Given the description of an element on the screen output the (x, y) to click on. 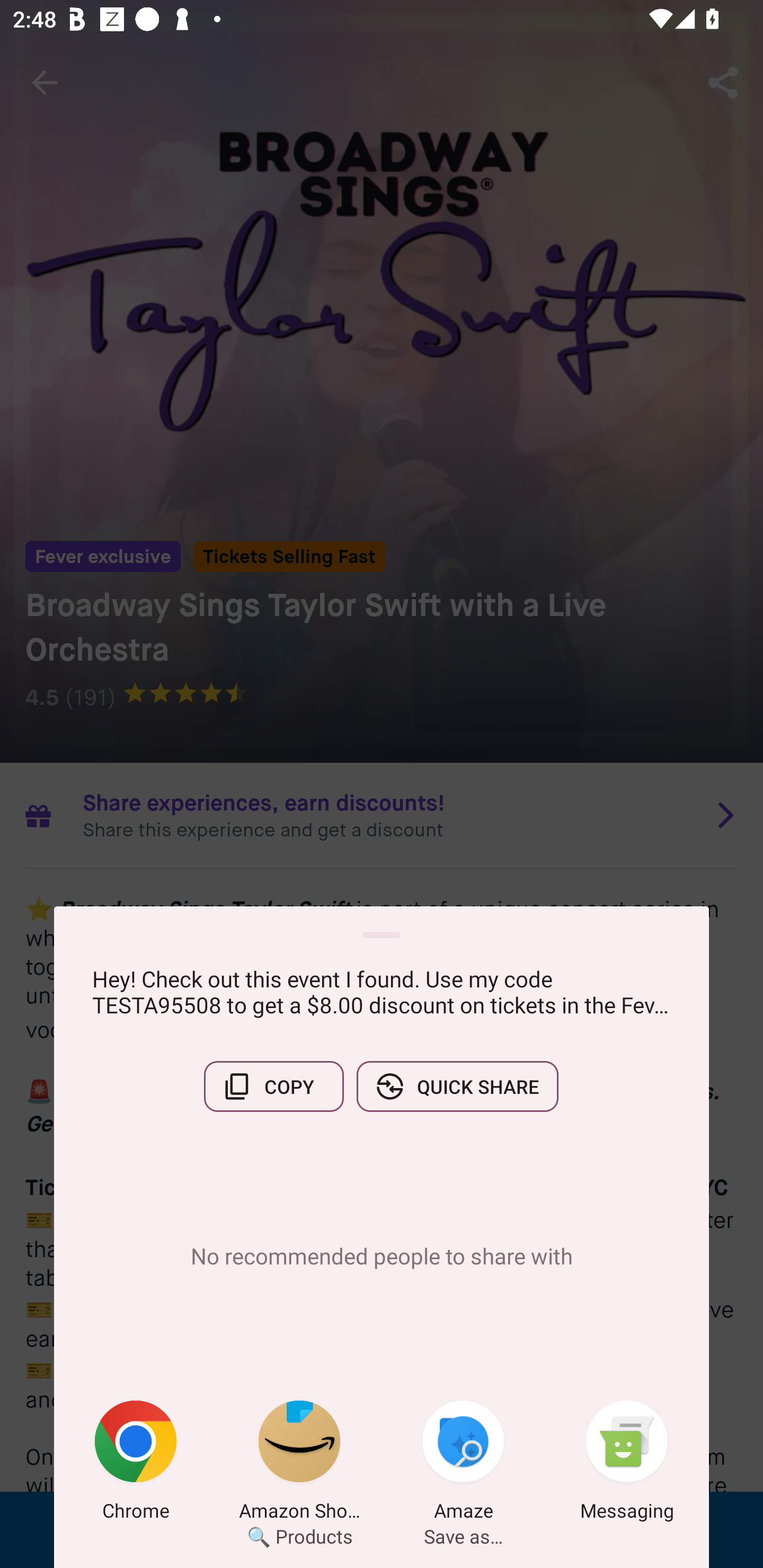
COPY (273, 1086)
QUICK SHARE (457, 1086)
Chrome (135, 1463)
Amazon Shopping 🔍 Products (299, 1463)
Amaze Save as… (463, 1463)
Messaging (626, 1463)
